Given the description of an element on the screen output the (x, y) to click on. 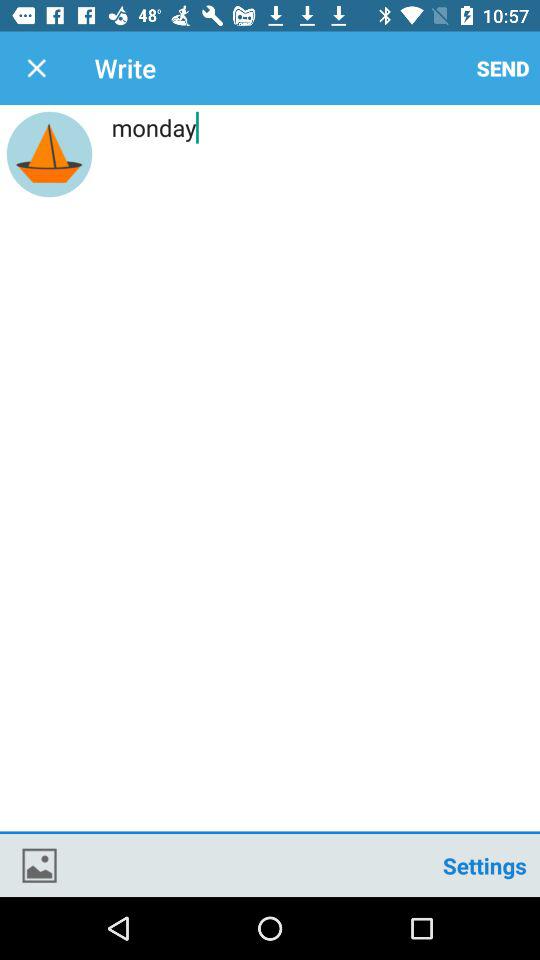
tap icon to the left of write (36, 68)
